Given the description of an element on the screen output the (x, y) to click on. 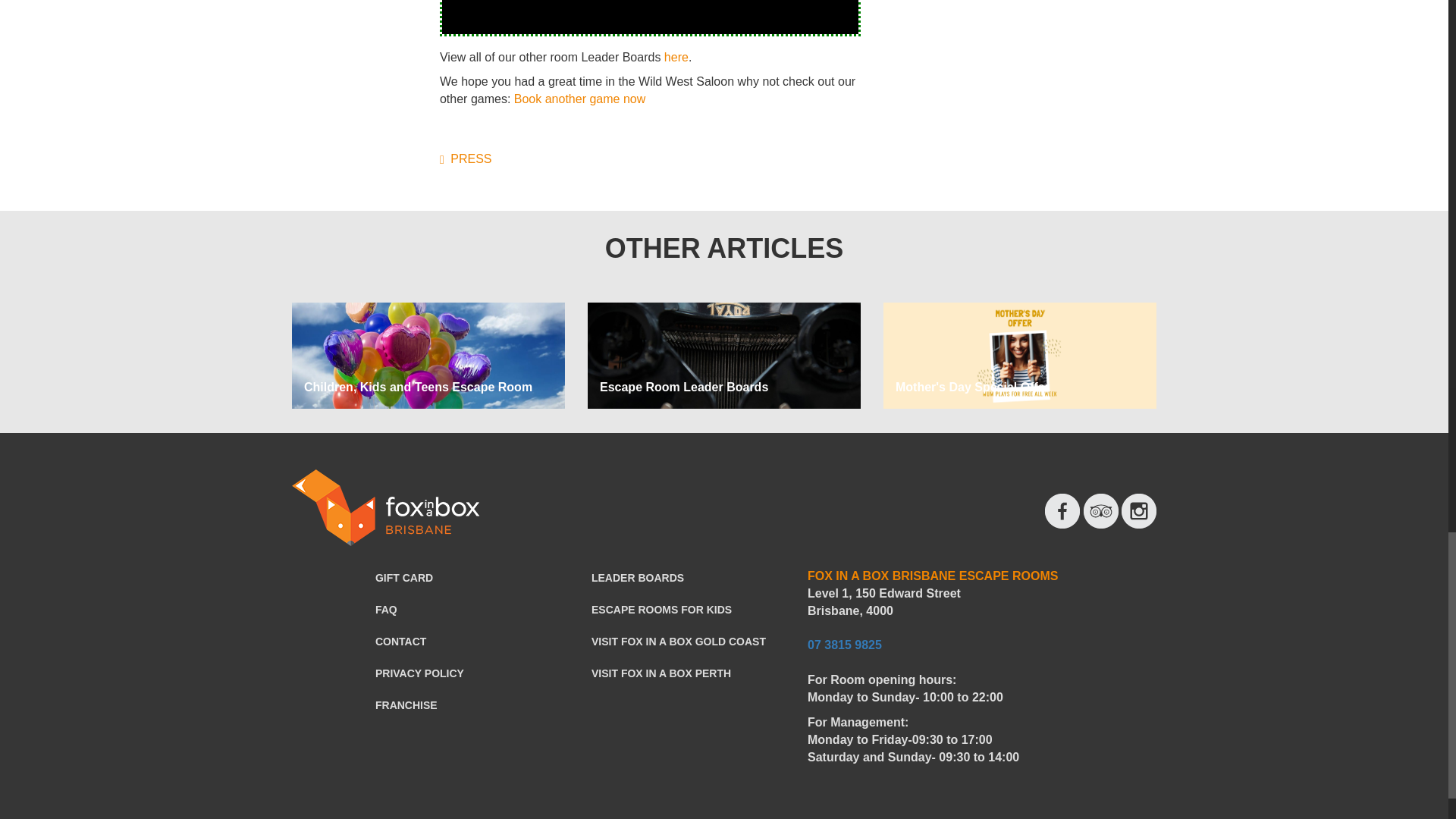
Children, Kids and Teens Escape Room (418, 386)
07 3815 9825 (845, 644)
Book another game now (579, 98)
here (675, 56)
Fox in a Box Brisbane Escape Rooms (385, 507)
  PRESS (465, 158)
Mother's Day Special Offer (972, 386)
Escape Room Leader Boards (683, 386)
